Given the description of an element on the screen output the (x, y) to click on. 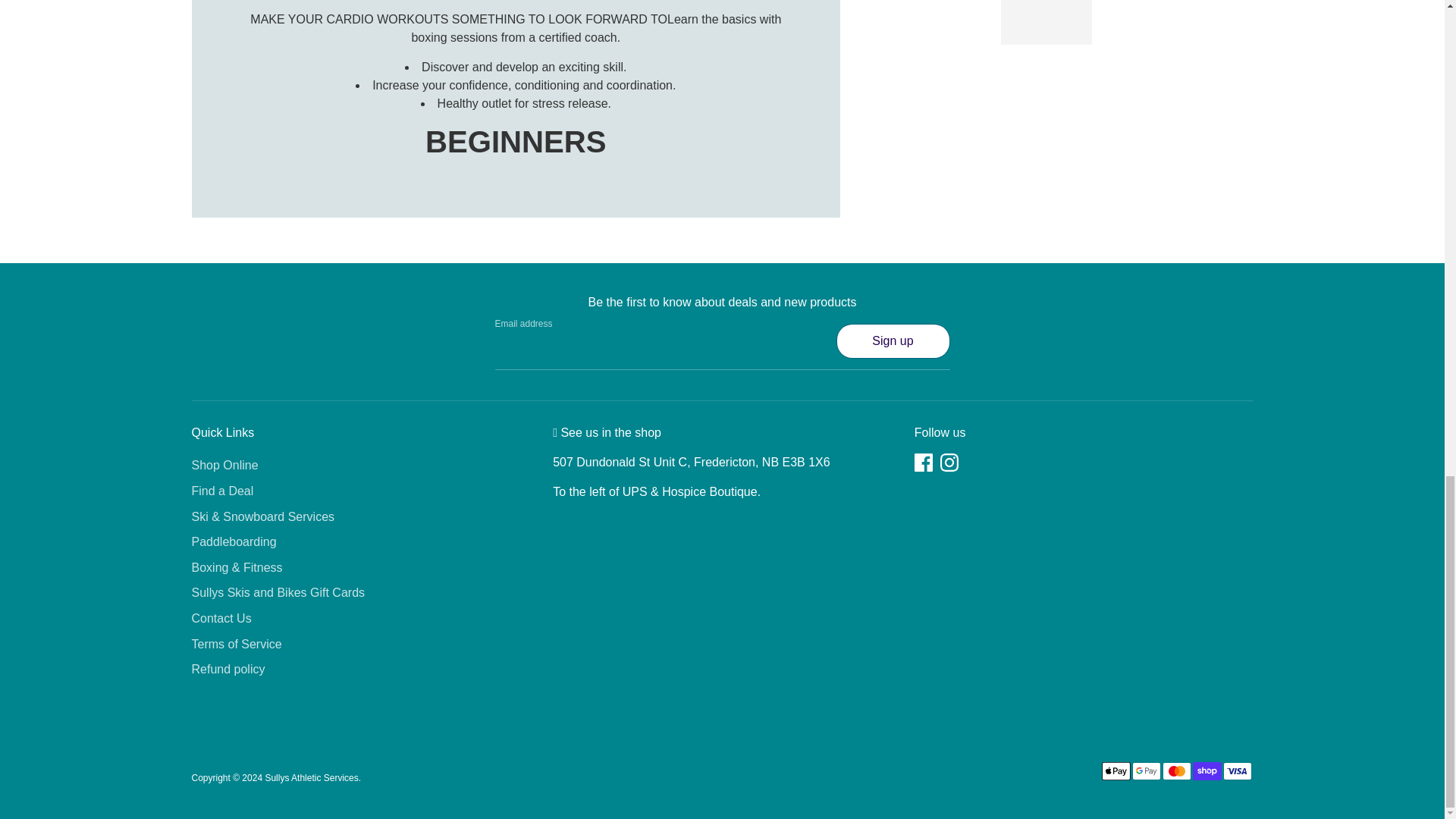
Google Pay (1145, 771)
Shop Pay (1206, 771)
Visa (1236, 771)
Apple Pay (1114, 771)
Mastercard (1176, 771)
